Given the description of an element on the screen output the (x, y) to click on. 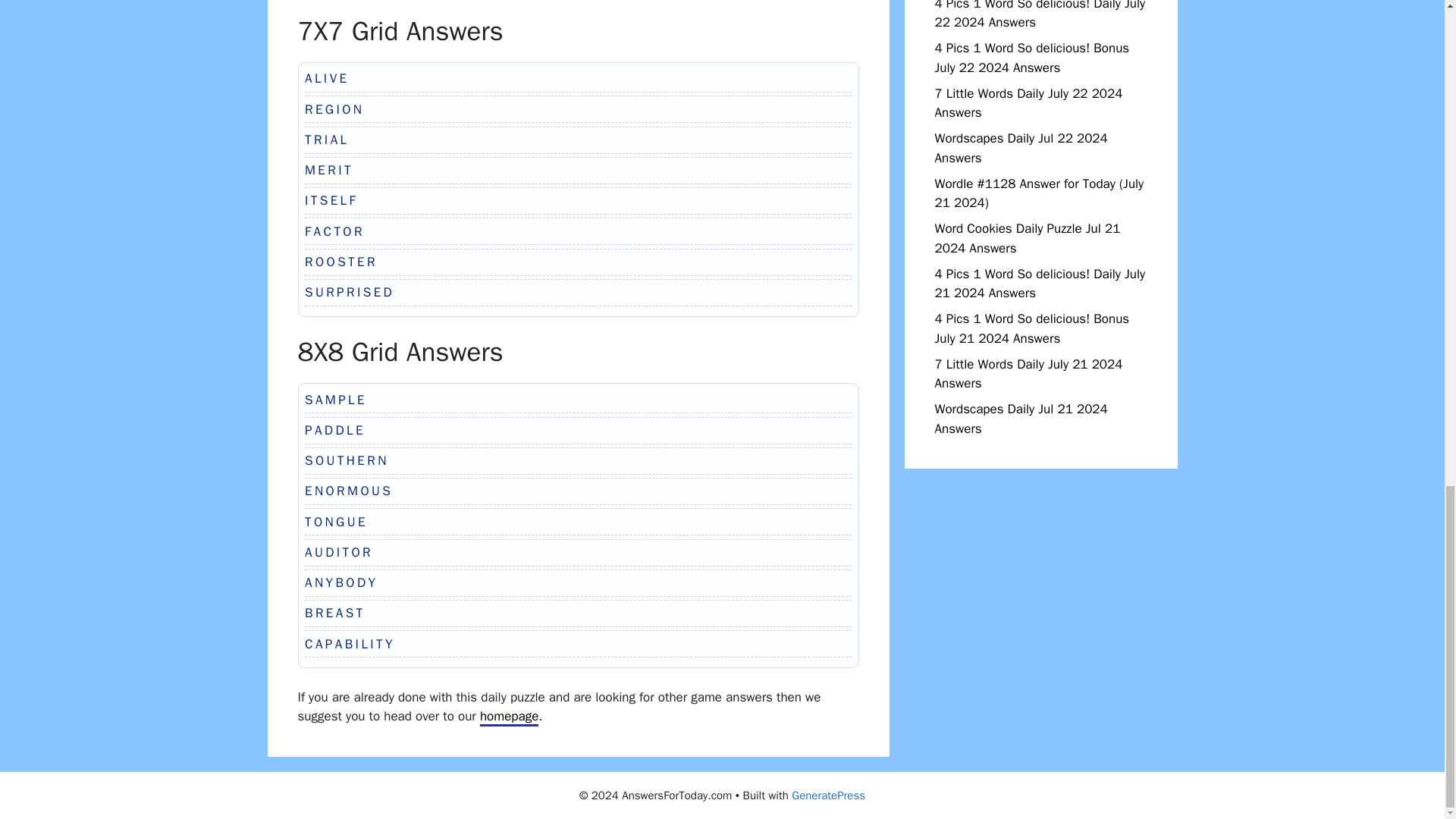
4 Pics 1 Word So delicious! Daily July 22 2024 Answers (1039, 15)
4 Pics 1 Word So delicious! Bonus July 21 2024 Answers (1031, 328)
7 Little Words Daily July 21 2024 Answers (1028, 374)
4 Pics 1 Word So delicious! Daily July 21 2024 Answers (1039, 283)
Wordscapes Daily Jul 22 2024 Answers (1020, 148)
GeneratePress (828, 795)
7 Little Words Daily July 22 2024 Answers (1028, 102)
4 Pics 1 Word So delicious! Bonus July 22 2024 Answers (1031, 58)
homepage (509, 717)
Wordscapes Daily Jul 21 2024 Answers (1020, 418)
Word Cookies Daily Puzzle Jul 21 2024 Answers (1026, 238)
